Given the description of an element on the screen output the (x, y) to click on. 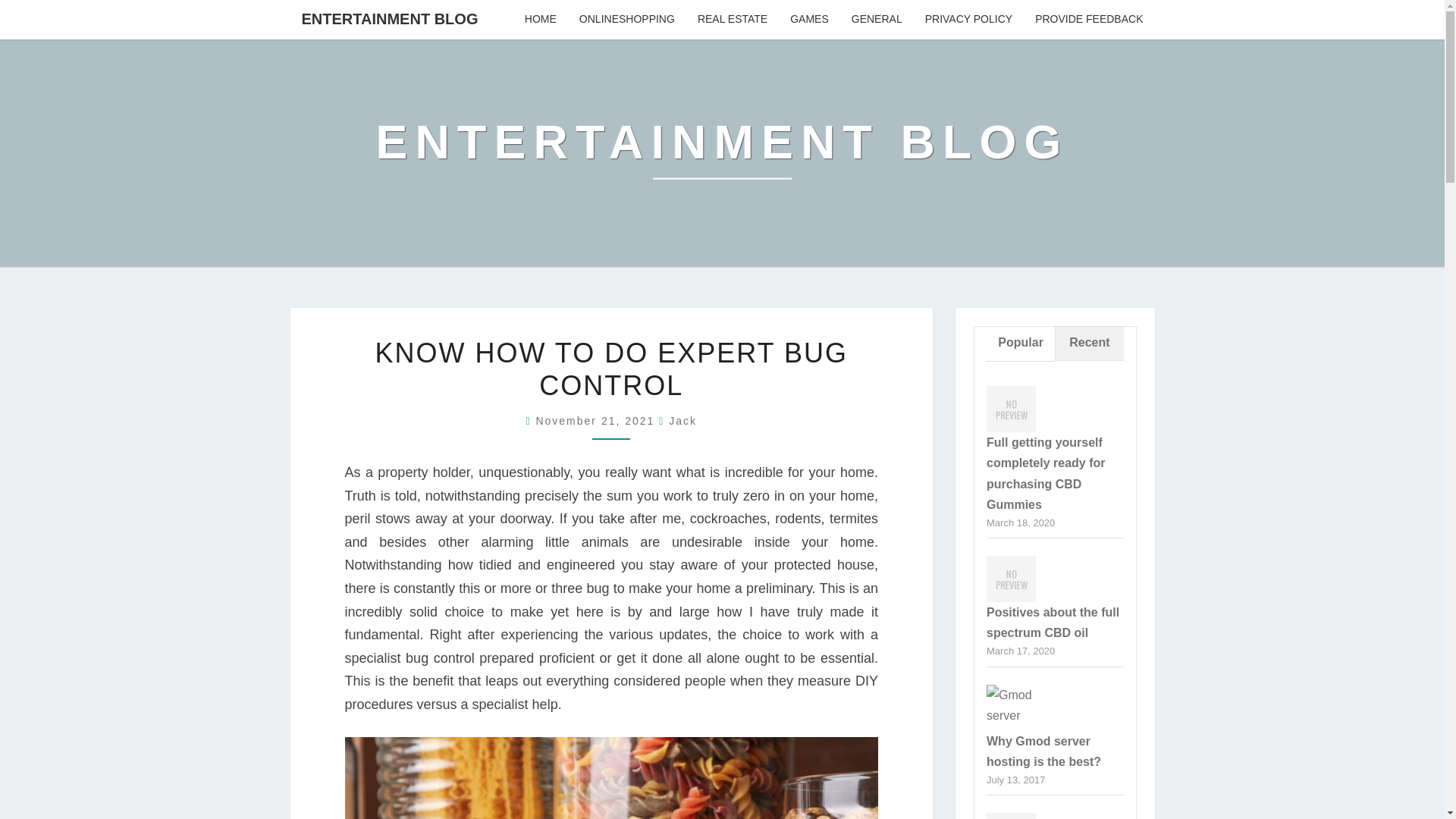
REAL ESTATE (731, 19)
Popular (1020, 343)
View all posts by Jack (682, 420)
Recent (1088, 343)
ENTERTAINMENT BLOG (389, 18)
Why Gmod server hosting is the best? (1011, 714)
November 21, 2021 (597, 420)
Positives about the full spectrum CBD oil (1053, 622)
